Given the description of an element on the screen output the (x, y) to click on. 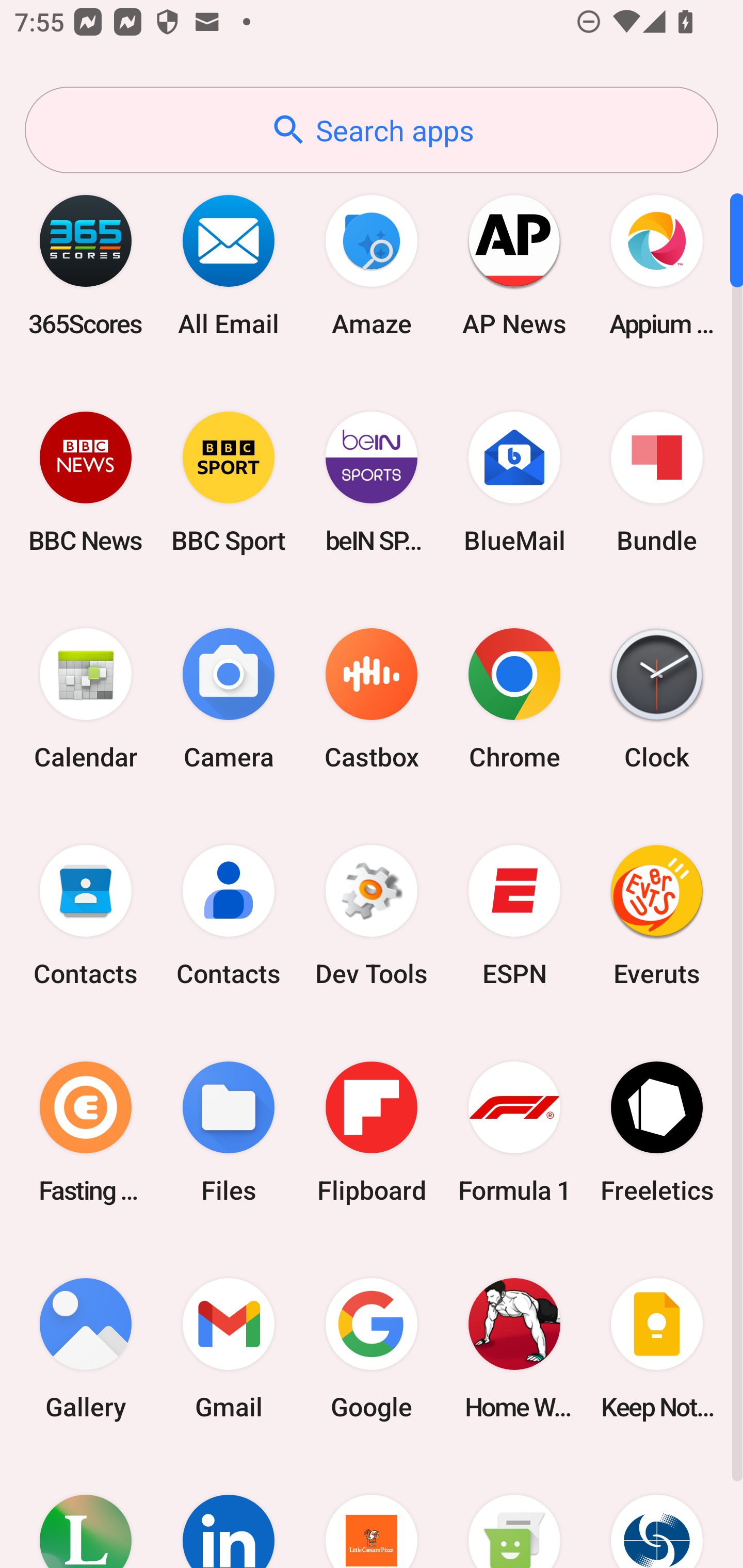
  Search apps (371, 130)
365Scores (85, 264)
All Email (228, 264)
Amaze (371, 264)
AP News (514, 264)
Appium Settings (656, 264)
BBC News (85, 482)
BBC Sport (228, 482)
beIN SPORTS (371, 482)
BlueMail (514, 482)
Bundle (656, 482)
Calendar (85, 699)
Camera (228, 699)
Castbox (371, 699)
Chrome (514, 699)
Clock (656, 699)
Contacts (85, 915)
Contacts (228, 915)
Dev Tools (371, 915)
ESPN (514, 915)
Everuts (656, 915)
Fasting Coach (85, 1131)
Files (228, 1131)
Flipboard (371, 1131)
Formula 1 (514, 1131)
Freeletics (656, 1131)
Gallery (85, 1348)
Gmail (228, 1348)
Google (371, 1348)
Home Workout (514, 1348)
Keep Notes (656, 1348)
